Given the description of an element on the screen output the (x, y) to click on. 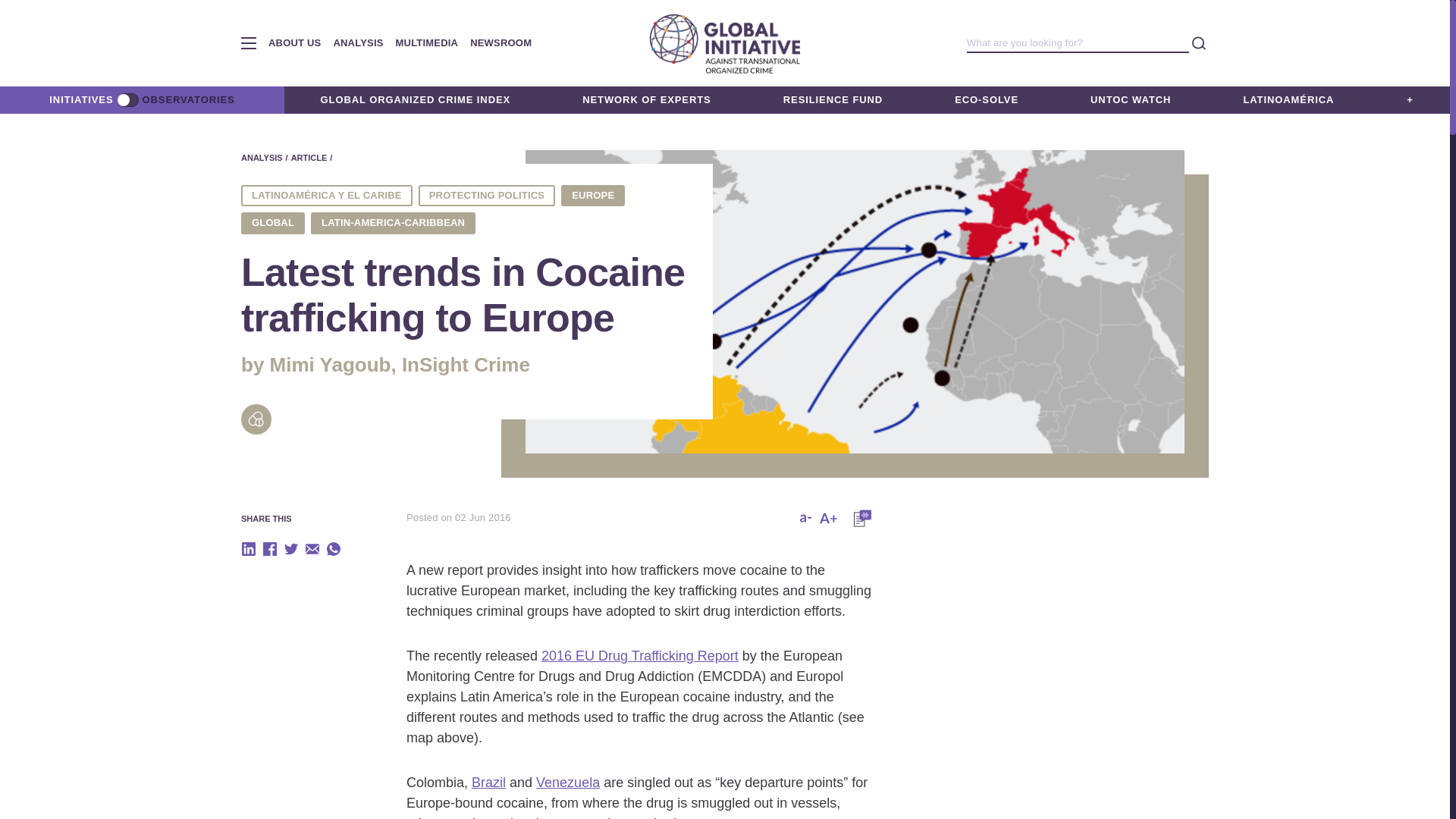
Link to the Venezuela landing page.  (567, 782)
Link to the Brazil landing page.  (488, 782)
